Given the description of an element on the screen output the (x, y) to click on. 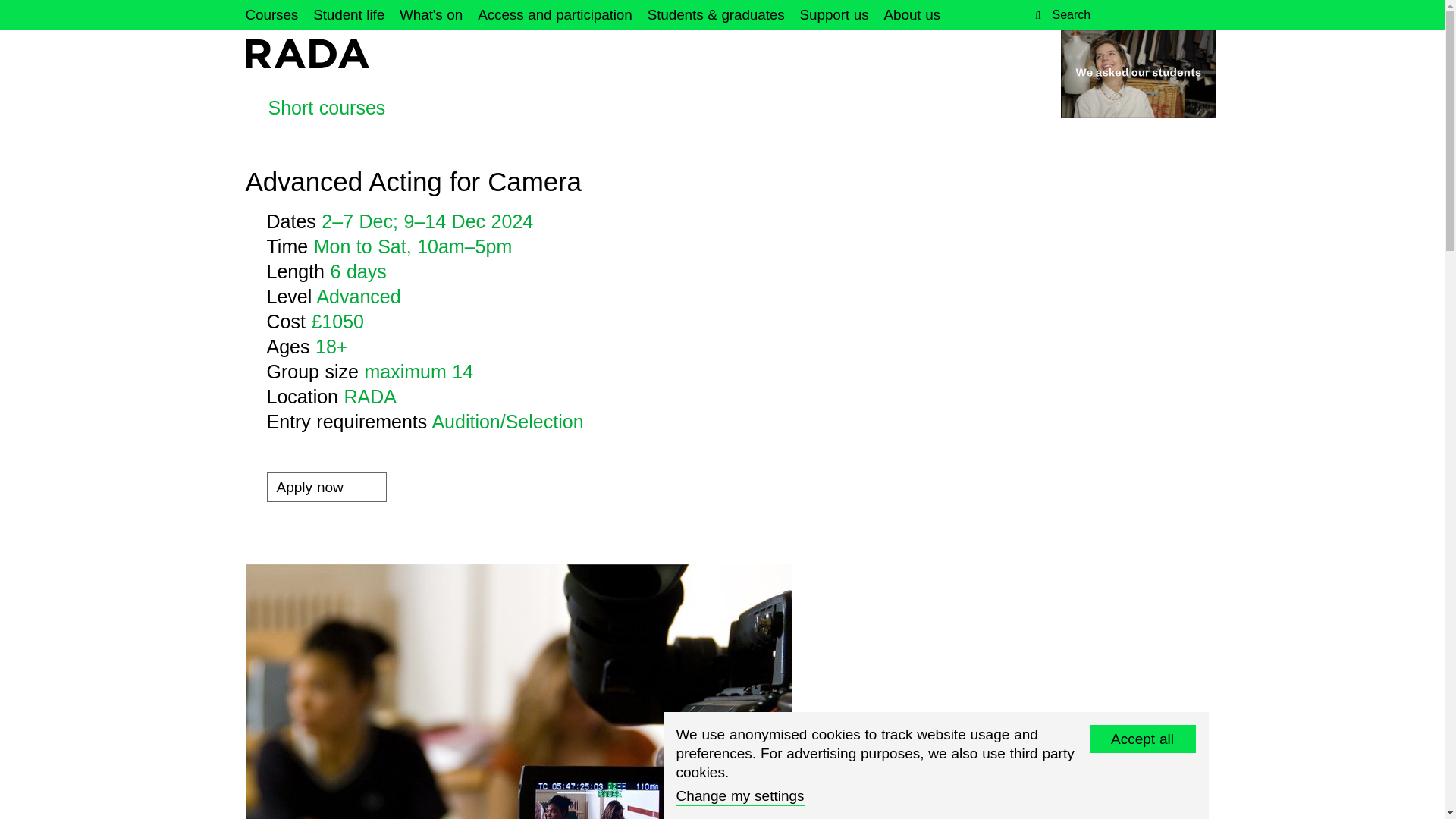
Support us (834, 15)
Change my settings (741, 795)
About us (911, 15)
Access and participation (554, 15)
Short courses (315, 107)
Student life (348, 15)
Courses (272, 15)
Apply now (326, 487)
What's on (430, 15)
